Given the description of an element on the screen output the (x, y) to click on. 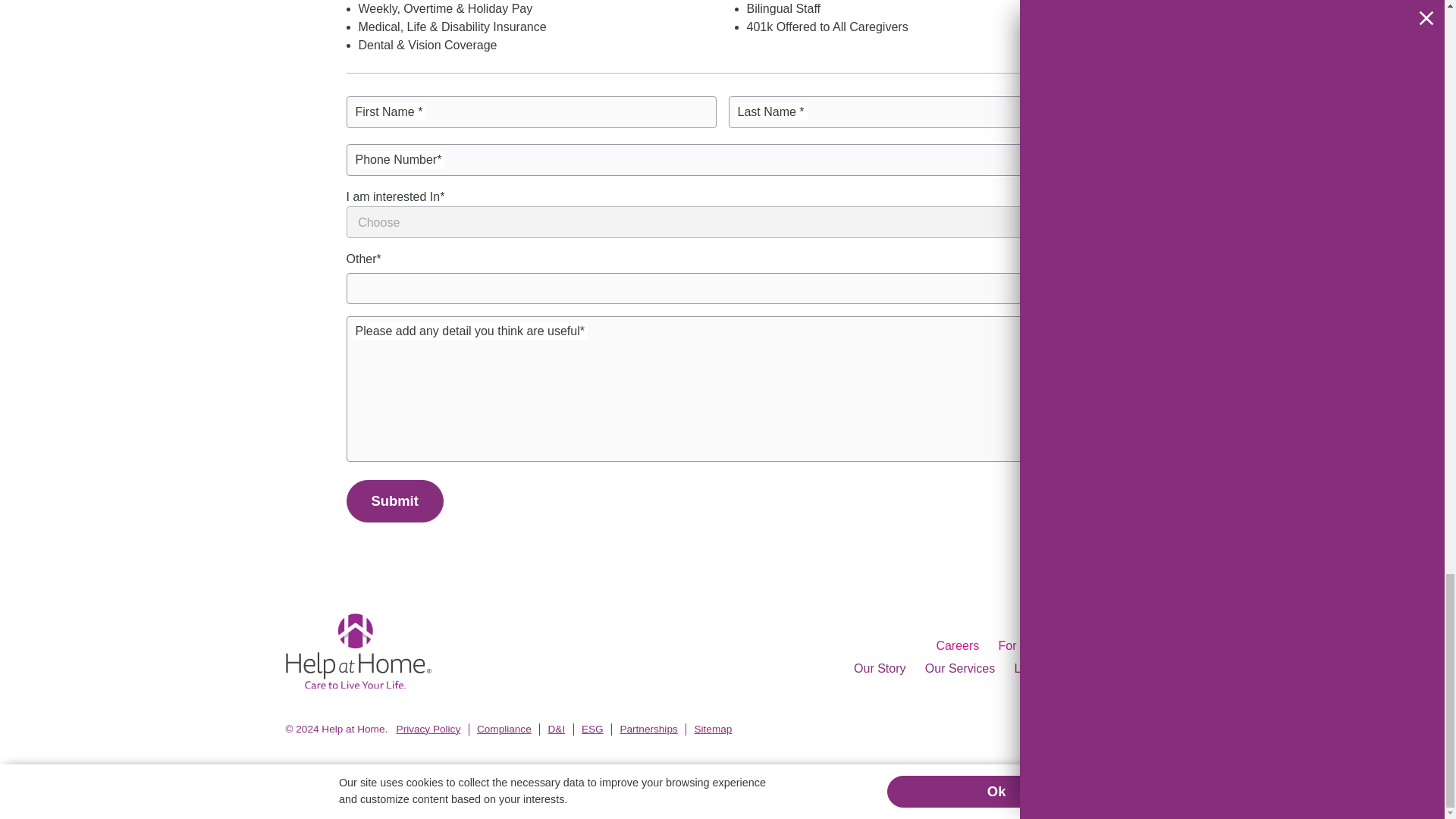
Submit (394, 500)
